Given the description of an element on the screen output the (x, y) to click on. 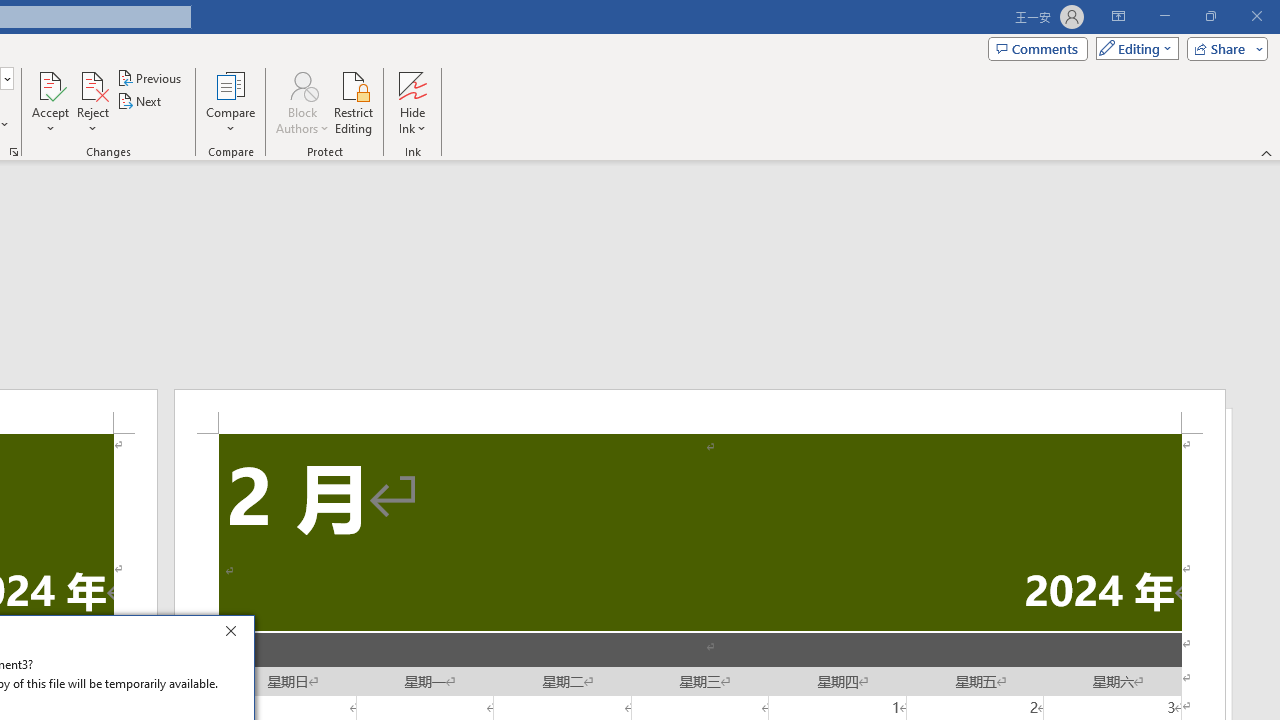
Reject (92, 102)
Header -Section 2- (700, 411)
Change Tracking Options... (13, 151)
Accept and Move to Next (50, 84)
Previous (150, 78)
